Given the description of an element on the screen output the (x, y) to click on. 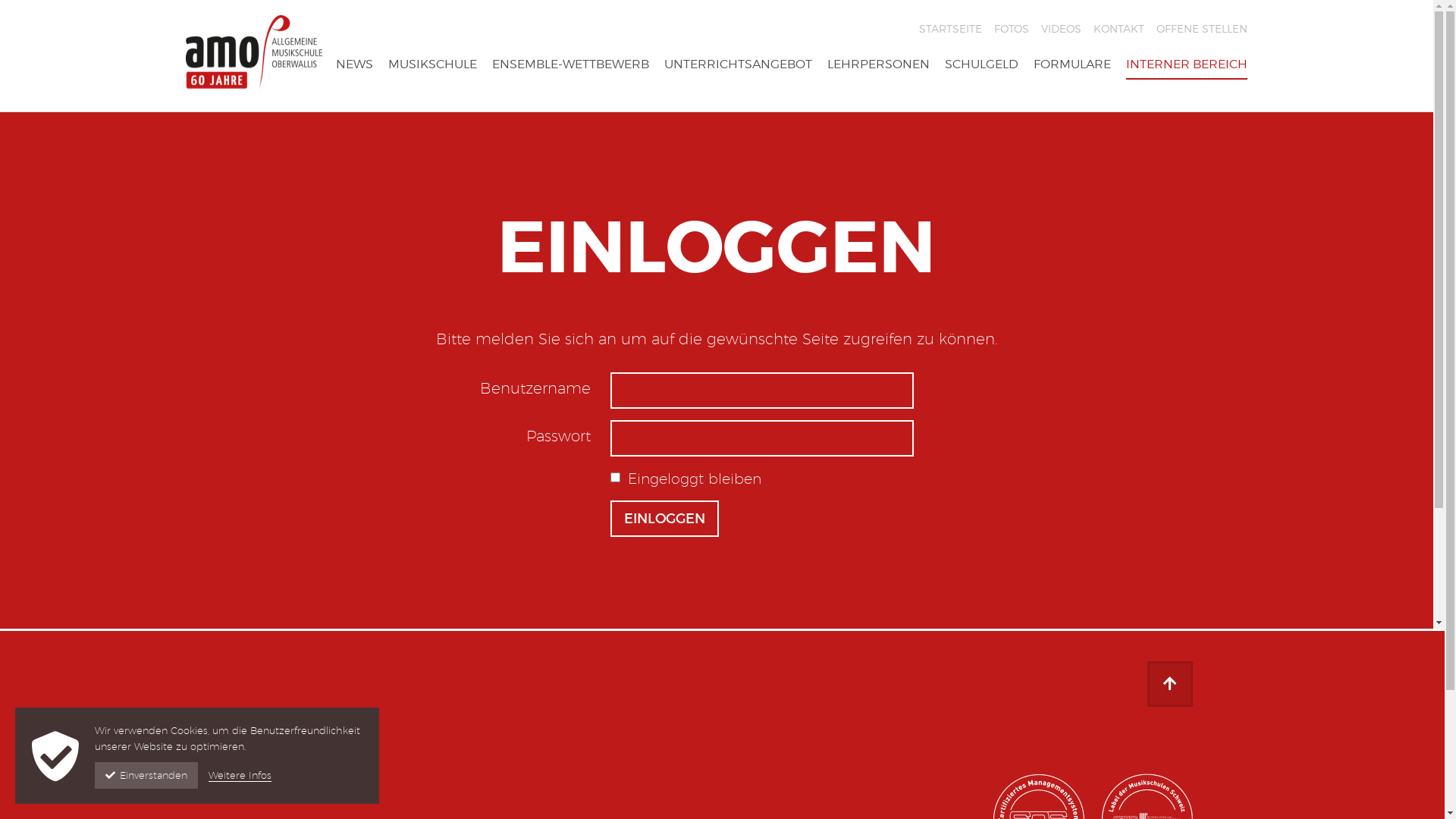
MUSIKSCHULE Element type: text (432, 83)
Weitere Infos Element type: text (239, 775)
UNTERRICHTSANGEBOT Element type: text (738, 83)
Einverstanden Element type: text (145, 775)
NEWS Element type: text (354, 83)
STARTSEITE Element type: text (950, 28)
KONTAKT Element type: text (1118, 28)
VIDEOS Element type: text (1061, 28)
ENSEMBLE-WETTBEWERB Element type: text (570, 83)
OFFENE STELLEN Element type: text (1201, 28)
FORMULARE Element type: text (1071, 83)
LEHRPERSONEN Element type: text (878, 83)
FOTOS Element type: text (1011, 28)
Einloggen Element type: text (664, 518)
SCHULGELD Element type: text (981, 83)
INTERNER BEREICH Element type: text (1186, 83)
